Given the description of an element on the screen output the (x, y) to click on. 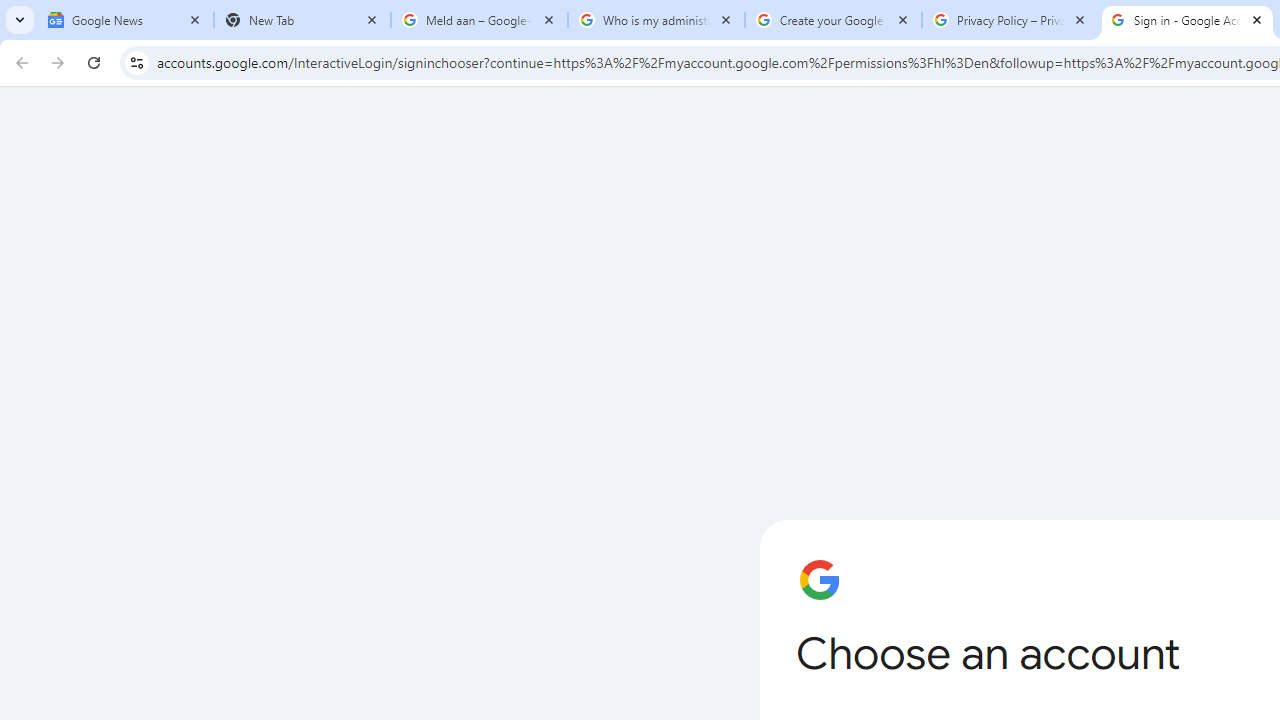
New Tab (301, 20)
Who is my administrator? - Google Account Help (656, 20)
Create your Google Account (833, 20)
Google News (125, 20)
